Given the description of an element on the screen output the (x, y) to click on. 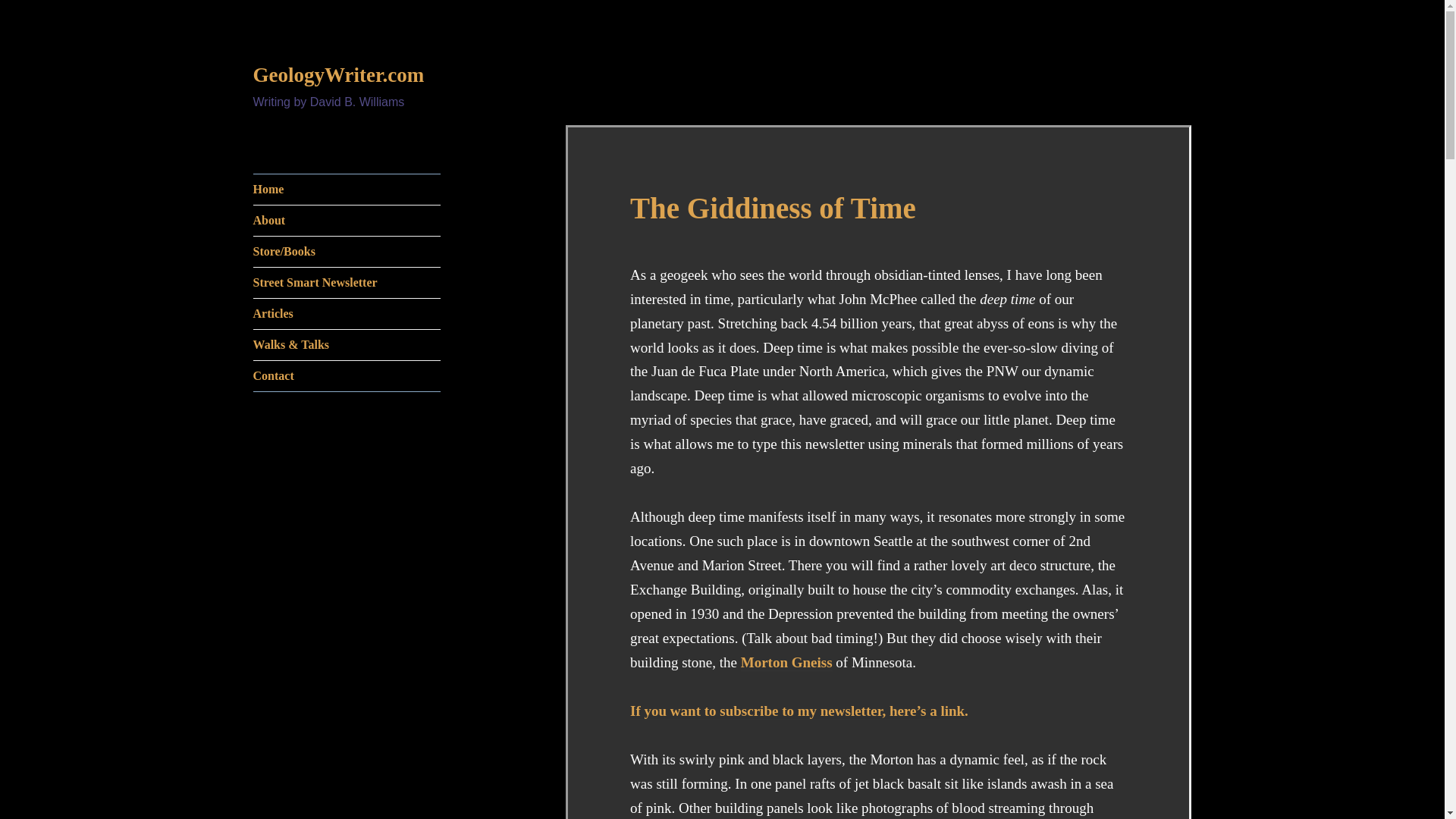
Contact (347, 376)
The Giddiness of Time (772, 207)
Morton Gneiss (786, 662)
Street Smart Newsletter (347, 282)
Home (347, 189)
GeologyWriter.com (339, 74)
About (347, 220)
Articles (347, 313)
